Given the description of an element on the screen output the (x, y) to click on. 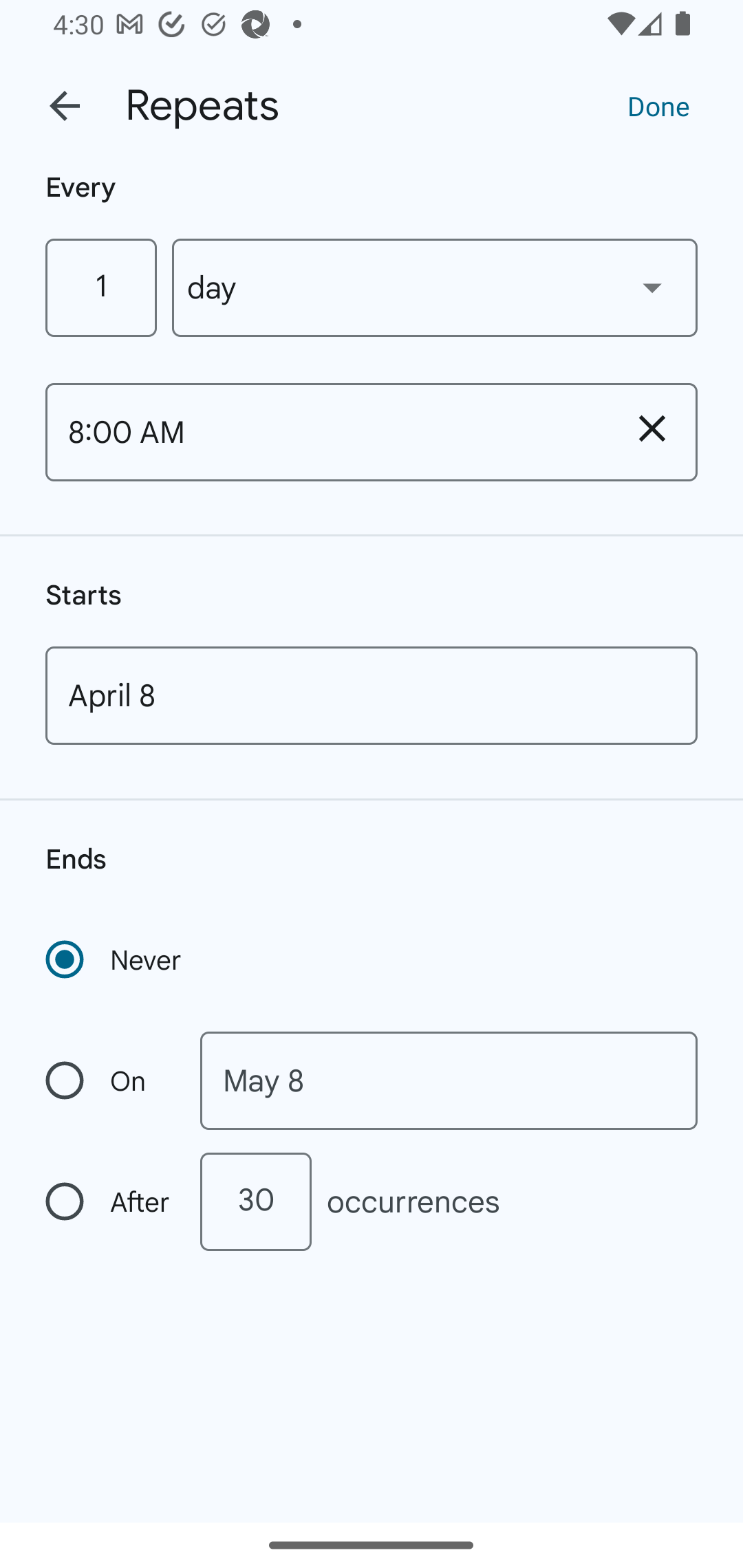
Back (64, 105)
Done (658, 105)
1 (100, 287)
day (434, 287)
Show dropdown menu (652, 286)
8:00 AM (326, 431)
Remove 8:00 AM (652, 427)
April 8 (371, 695)
Never Recurrence never ends (115, 959)
May 8 (448, 1080)
On Recurrence ends on a specific date (109, 1080)
30 (255, 1201)
